Given the description of an element on the screen output the (x, y) to click on. 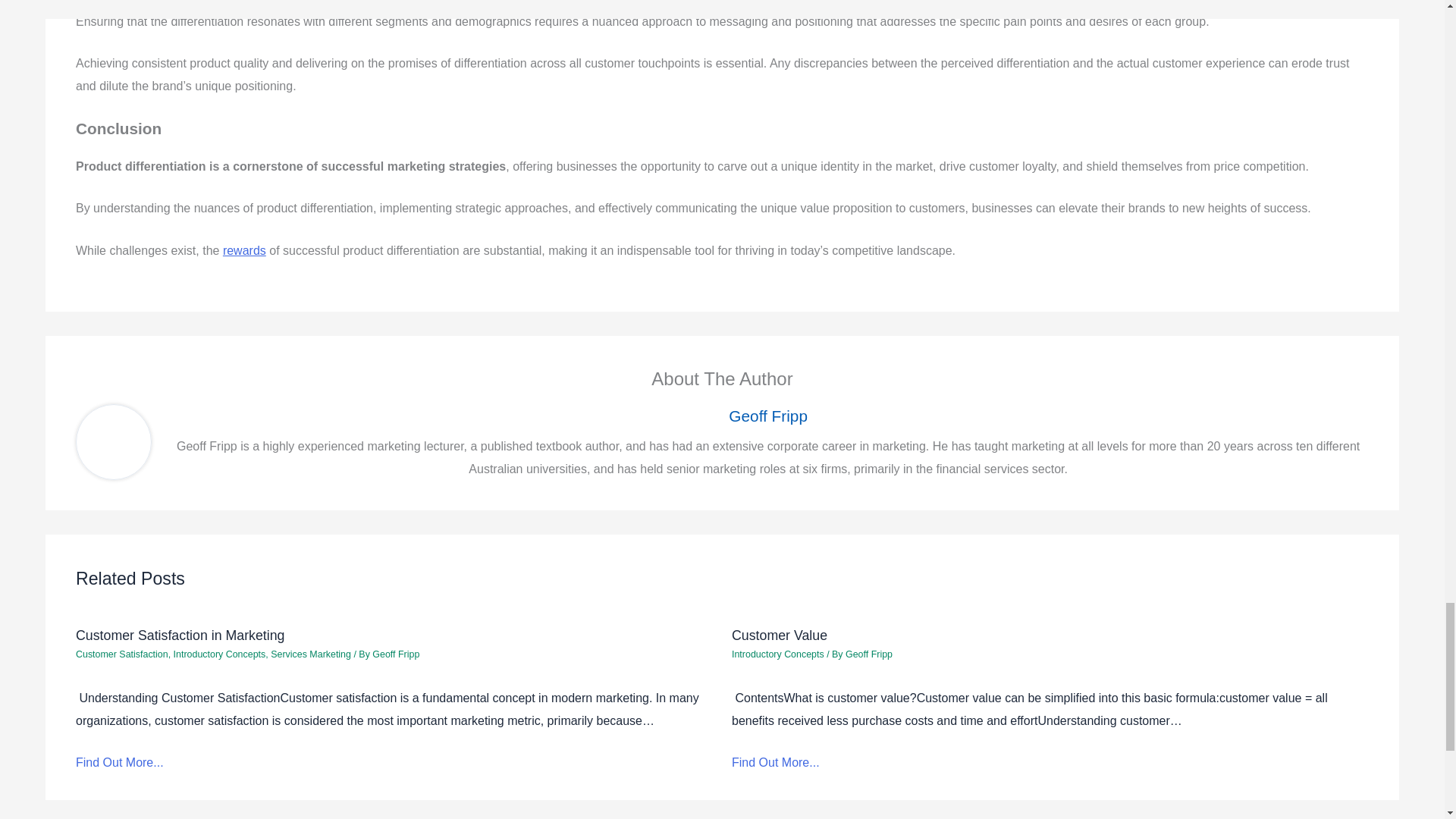
View all posts by Geoff Fripp (868, 654)
View all posts by Geoff Fripp (395, 654)
